Given the description of an element on the screen output the (x, y) to click on. 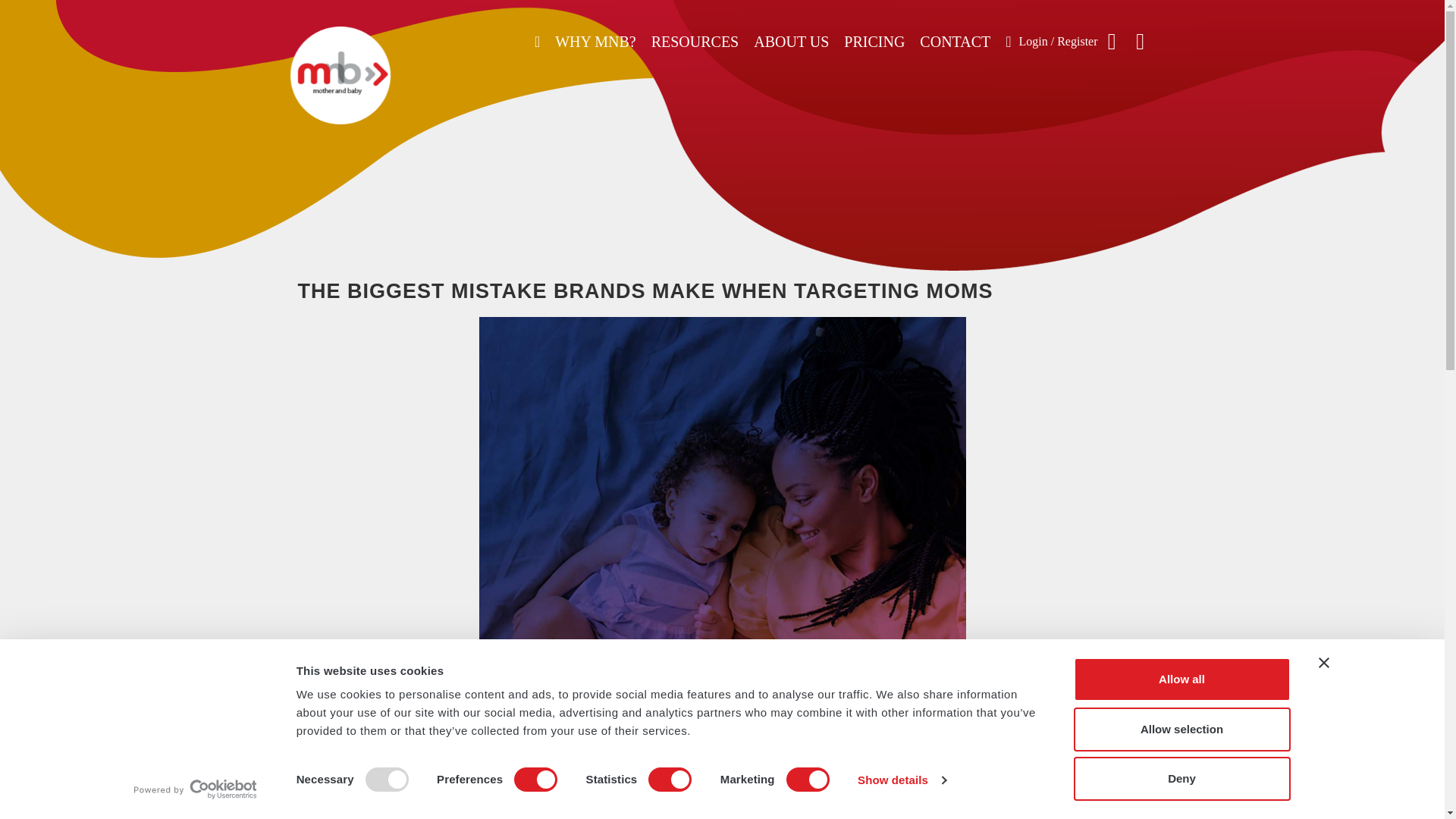
Deny (1182, 778)
Allow all (1182, 679)
Show details (900, 780)
Allow selection (1182, 728)
